Given the description of an element on the screen output the (x, y) to click on. 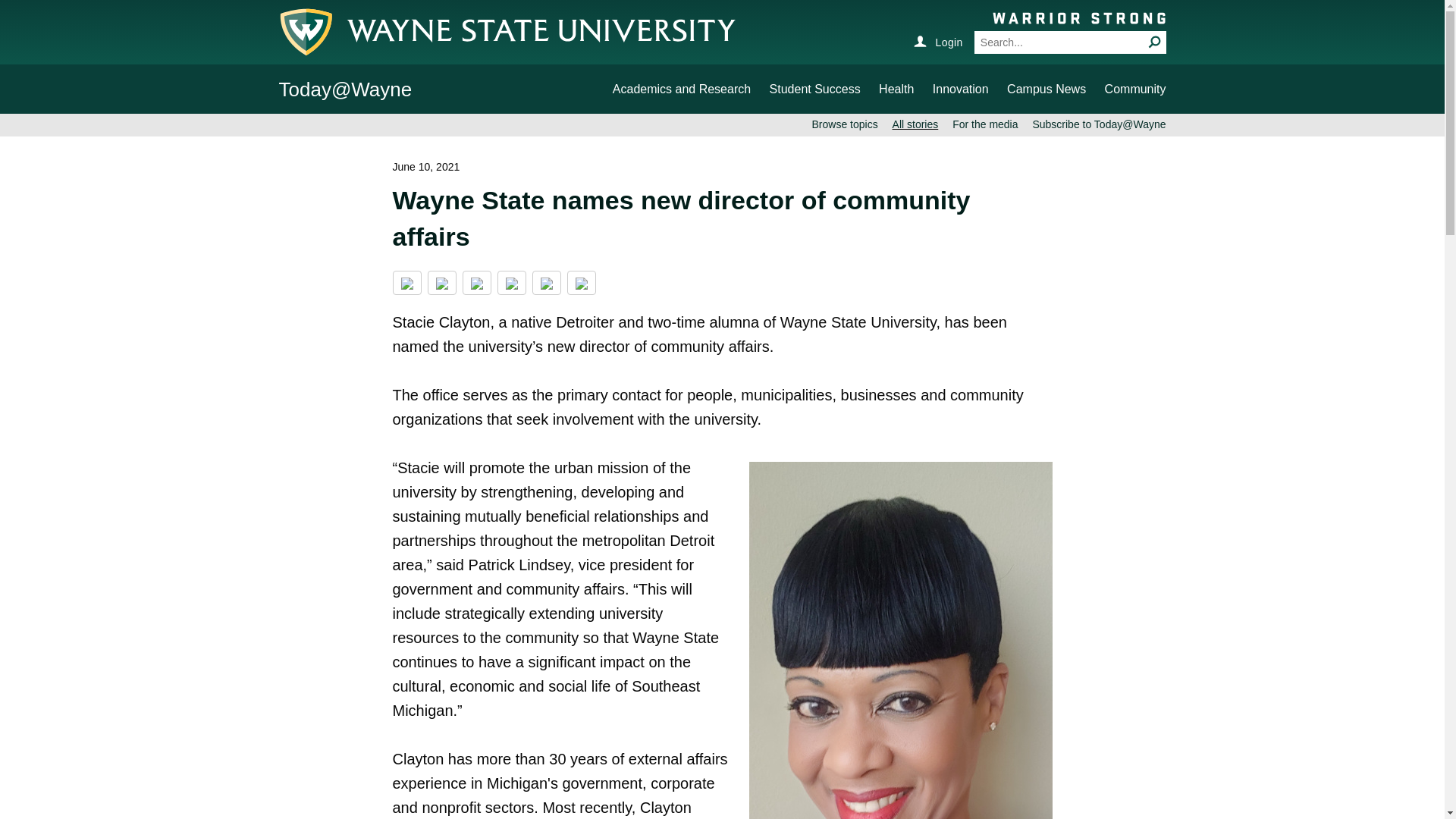
Login (937, 41)
Academics and Research (681, 88)
Search (1154, 41)
Health (896, 88)
All stories (915, 123)
Warrior strong (1078, 16)
For the media (984, 123)
Community (1135, 88)
Campus News (1046, 88)
Browse topics (844, 123)
Student Success (815, 88)
Innovation (960, 88)
Warrior strong (1078, 17)
